Given the description of an element on the screen output the (x, y) to click on. 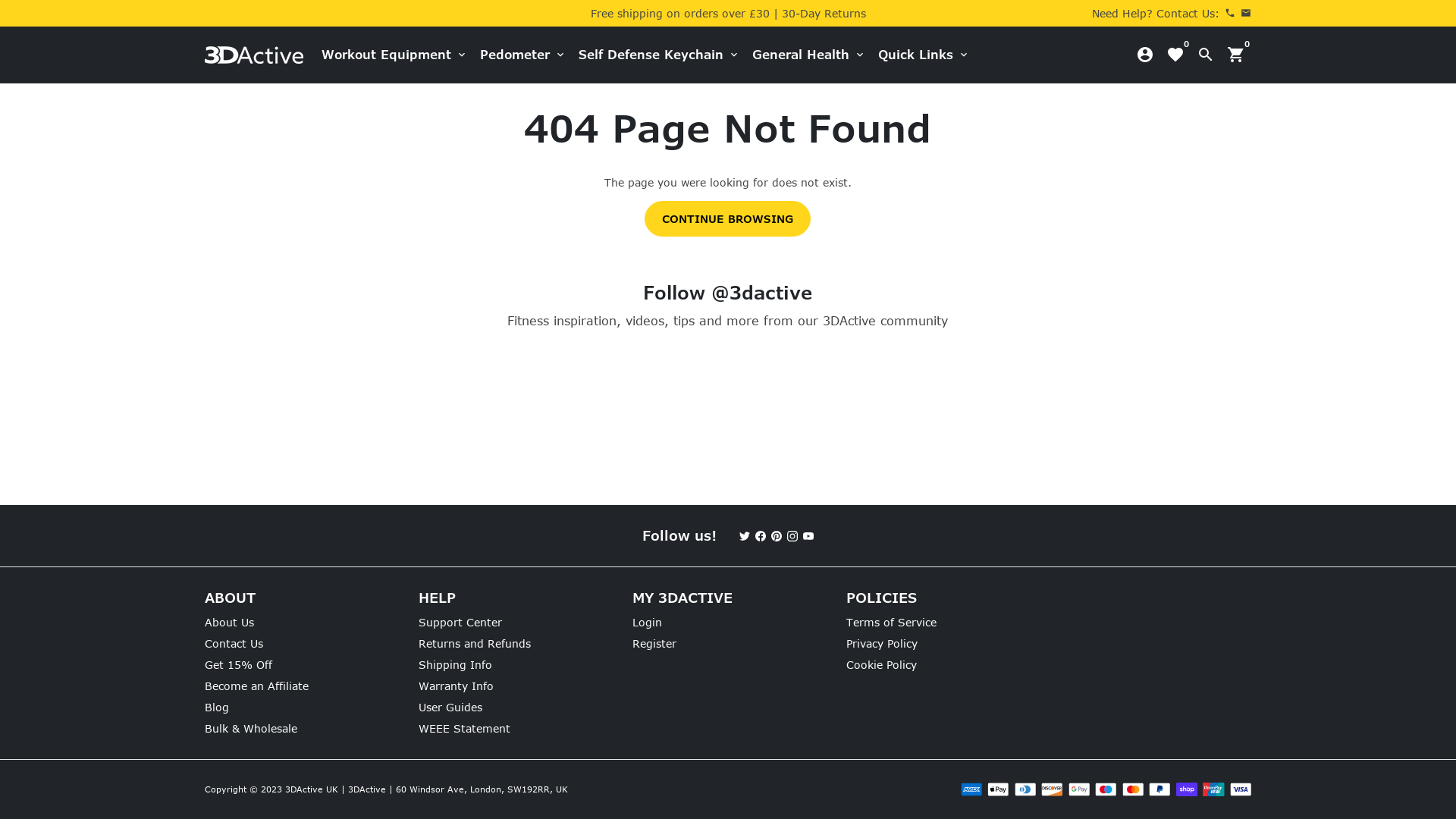
favorite
0 Element type: text (1175, 54)
3DActive UK on Facebook Element type: hover (760, 535)
Quick Links keyboard_arrow_down Element type: text (923, 54)
CONTINUE BROWSING Element type: text (727, 218)
3DActive UK on Twitter Element type: hover (744, 535)
3DActive UK on Instagram Element type: hover (792, 535)
Cookie Policy Element type: text (881, 664)
3DActive UK on Youtube Element type: hover (808, 535)
3DActive UK Element type: text (311, 788)
Get 15% Off Element type: text (238, 664)
Skip to content Element type: text (0, 0)
Privacy Policy Element type: text (881, 643)
email Element type: text (1245, 13)
Shipping Info Element type: text (455, 664)
Support Center Element type: text (460, 622)
phone Element type: text (1229, 13)
Register Element type: text (654, 643)
Become an Affiliate Element type: text (256, 685)
shopping_cart
0 Element type: text (1235, 54)
Self Defense Keychain keyboard_arrow_down Element type: text (659, 54)
Returns and Refunds Element type: text (474, 643)
About Us Element type: text (229, 622)
General Health keyboard_arrow_down Element type: text (809, 54)
Bulk & Wholesale Element type: text (250, 728)
WEEE Statement Element type: text (464, 728)
Login Element type: text (647, 622)
search Element type: text (1205, 54)
Terms of Service Element type: text (891, 622)
User Guides Element type: text (450, 707)
Blog Element type: text (216, 707)
Warranty Info Element type: text (455, 685)
account_circle Element type: text (1144, 54)
Pedometer keyboard_arrow_down Element type: text (522, 54)
Contact Us Element type: text (233, 643)
Workout Equipment keyboard_arrow_down Element type: text (394, 54)
3DActive UK on Pinterest Element type: hover (776, 535)
